Given the description of an element on the screen output the (x, y) to click on. 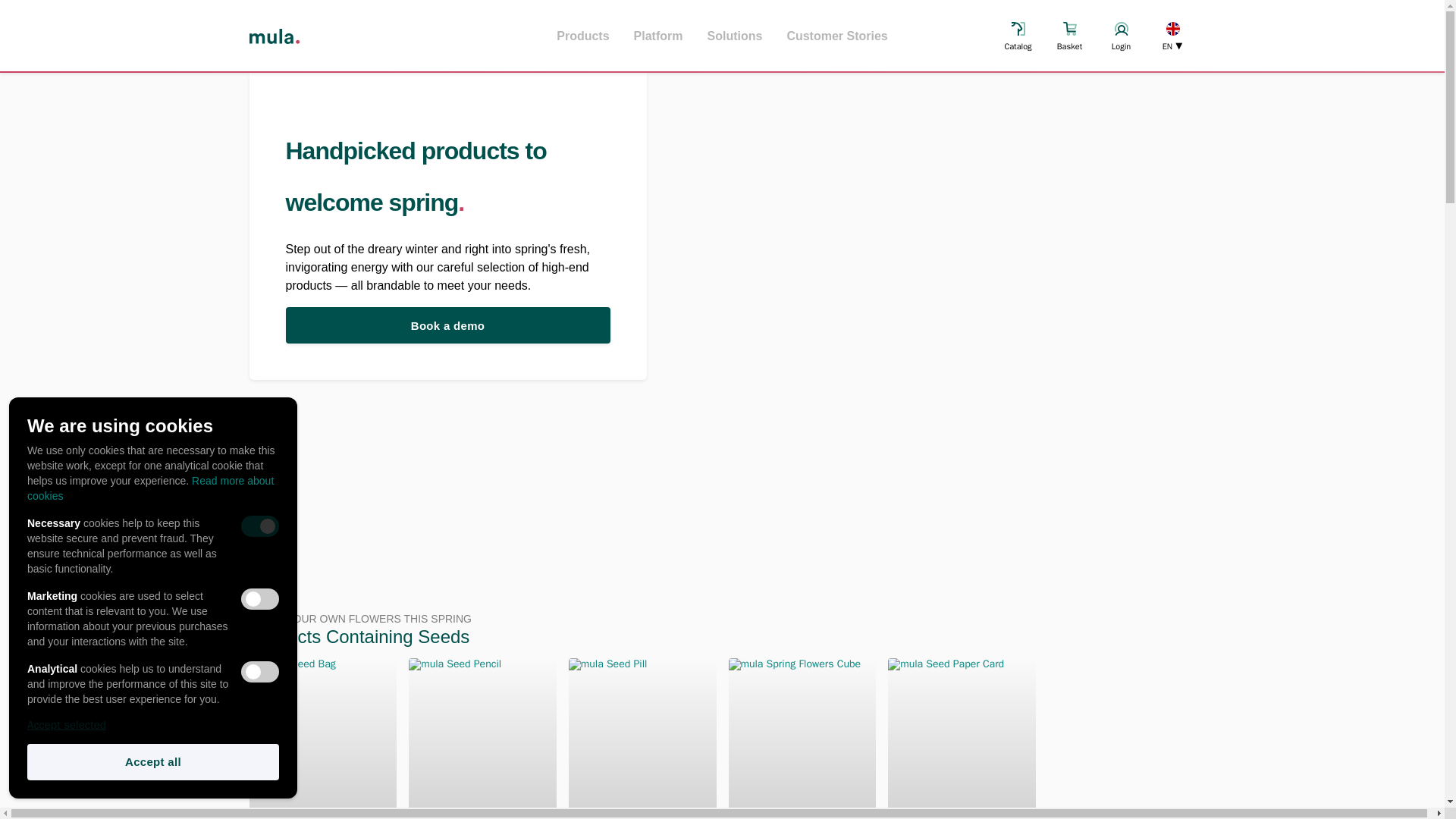
Solutions (734, 36)
Platform (658, 36)
Products (582, 36)
